Given the description of an element on the screen output the (x, y) to click on. 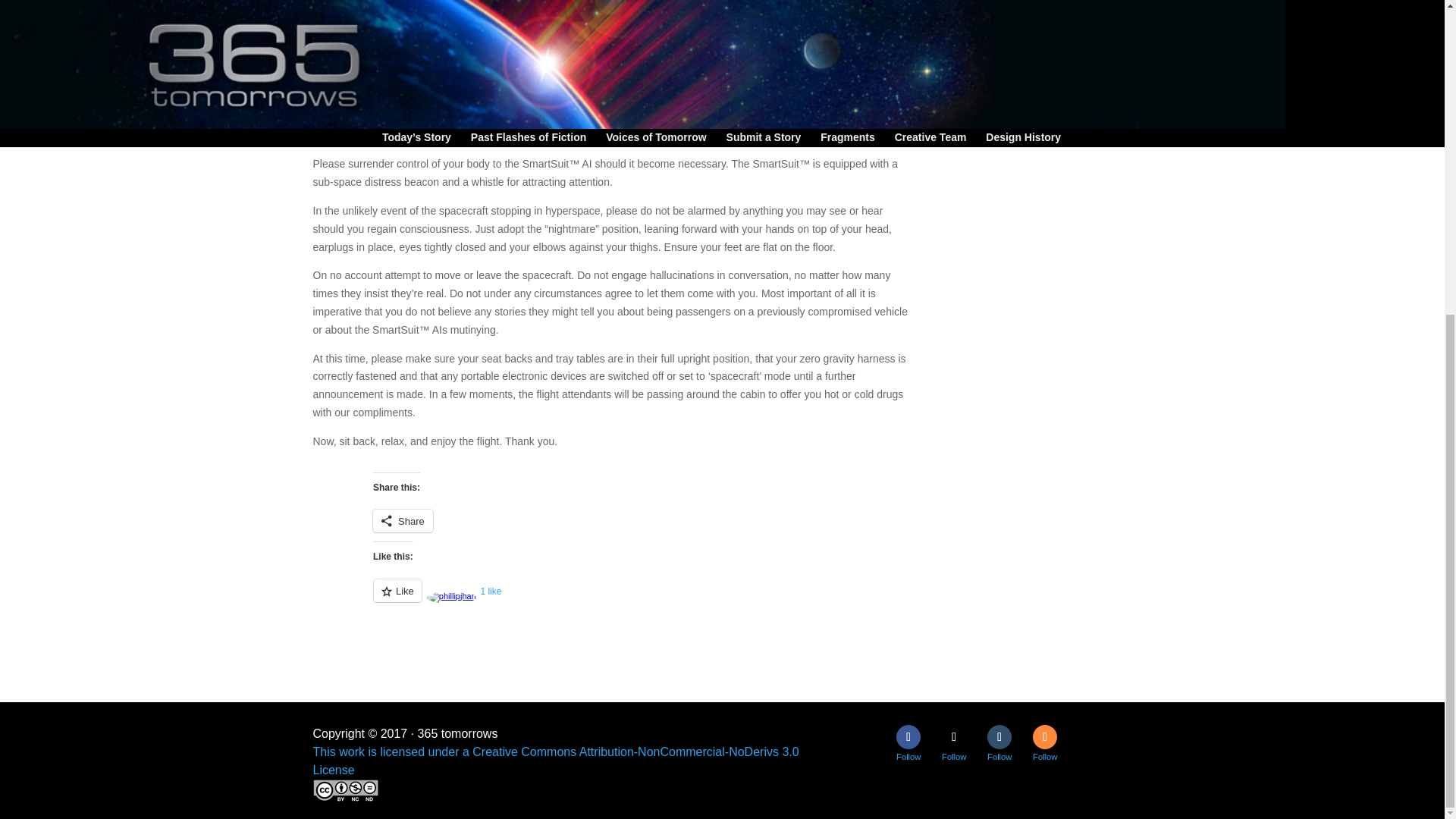
Follow (999, 736)
Follow (954, 736)
Follow (908, 736)
Like or Reblog (673, 598)
Follow on Facebook (908, 736)
Follow on Twitter (954, 736)
Share (402, 520)
Follow (1044, 736)
Follow on tumblr (999, 736)
